Given the description of an element on the screen output the (x, y) to click on. 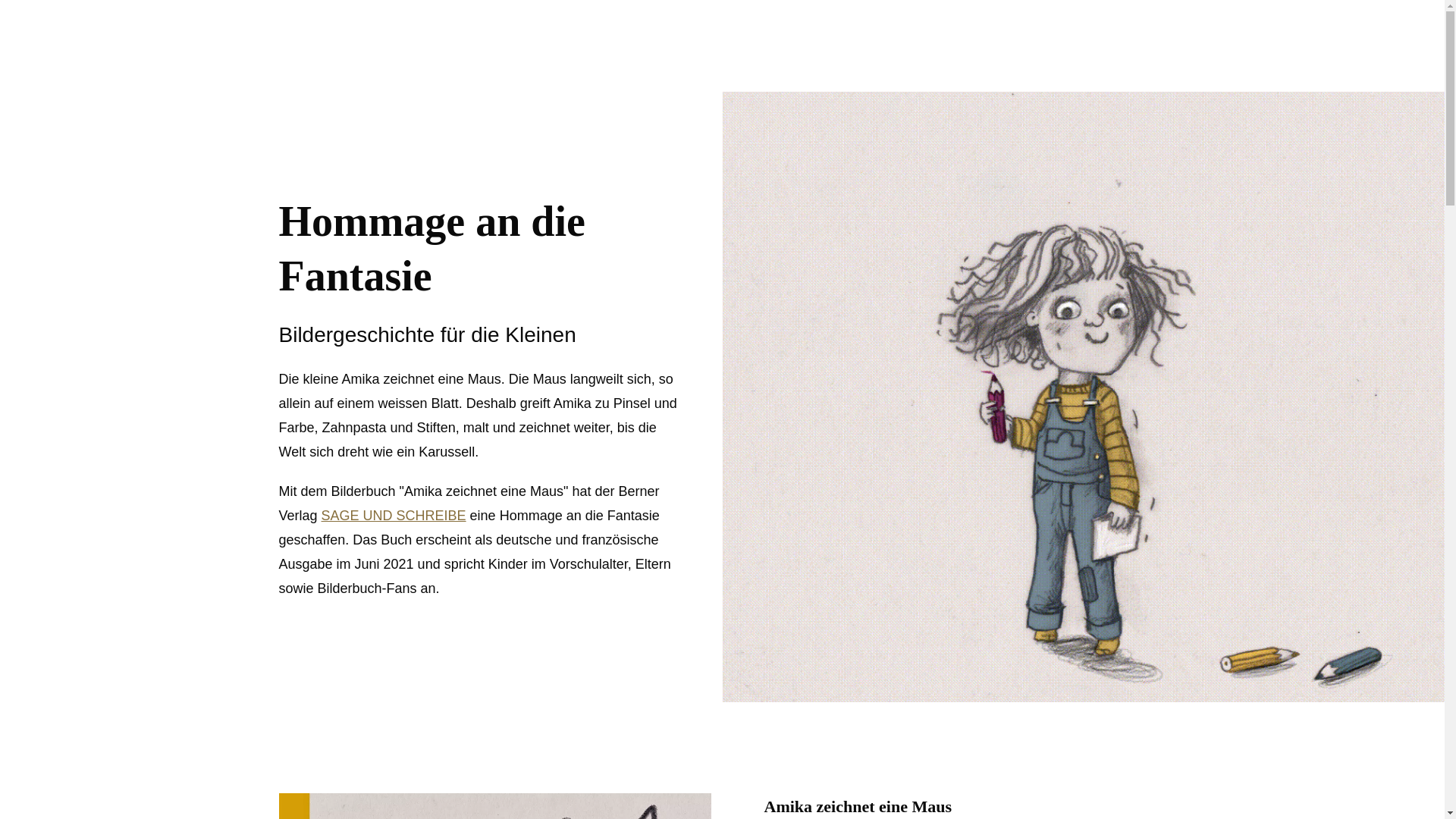
SAGE UND SCHREIBE Element type: text (393, 515)
